Given the description of an element on the screen output the (x, y) to click on. 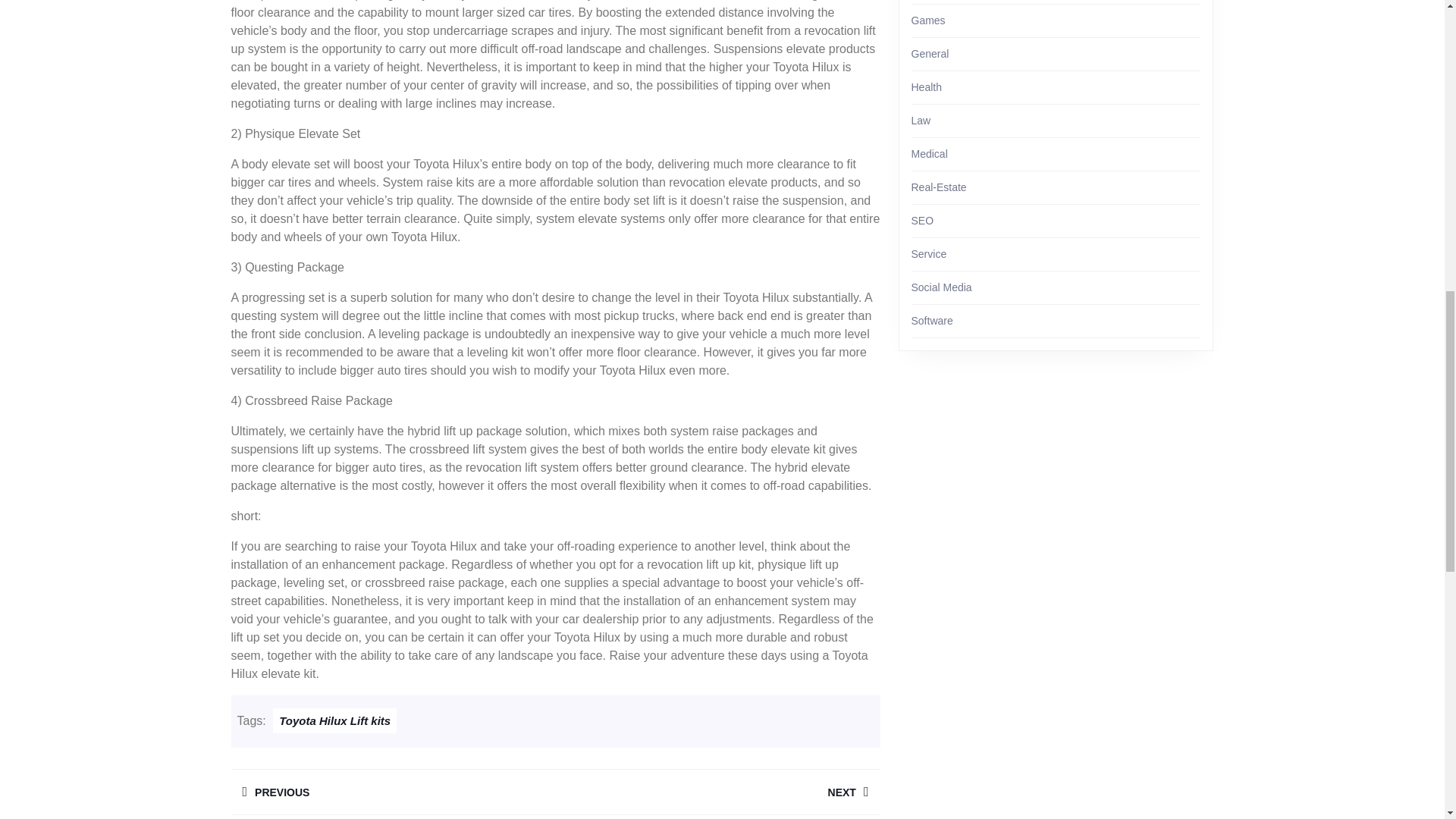
Toyota Hilux Lift kits (334, 720)
